Given the description of an element on the screen output the (x, y) to click on. 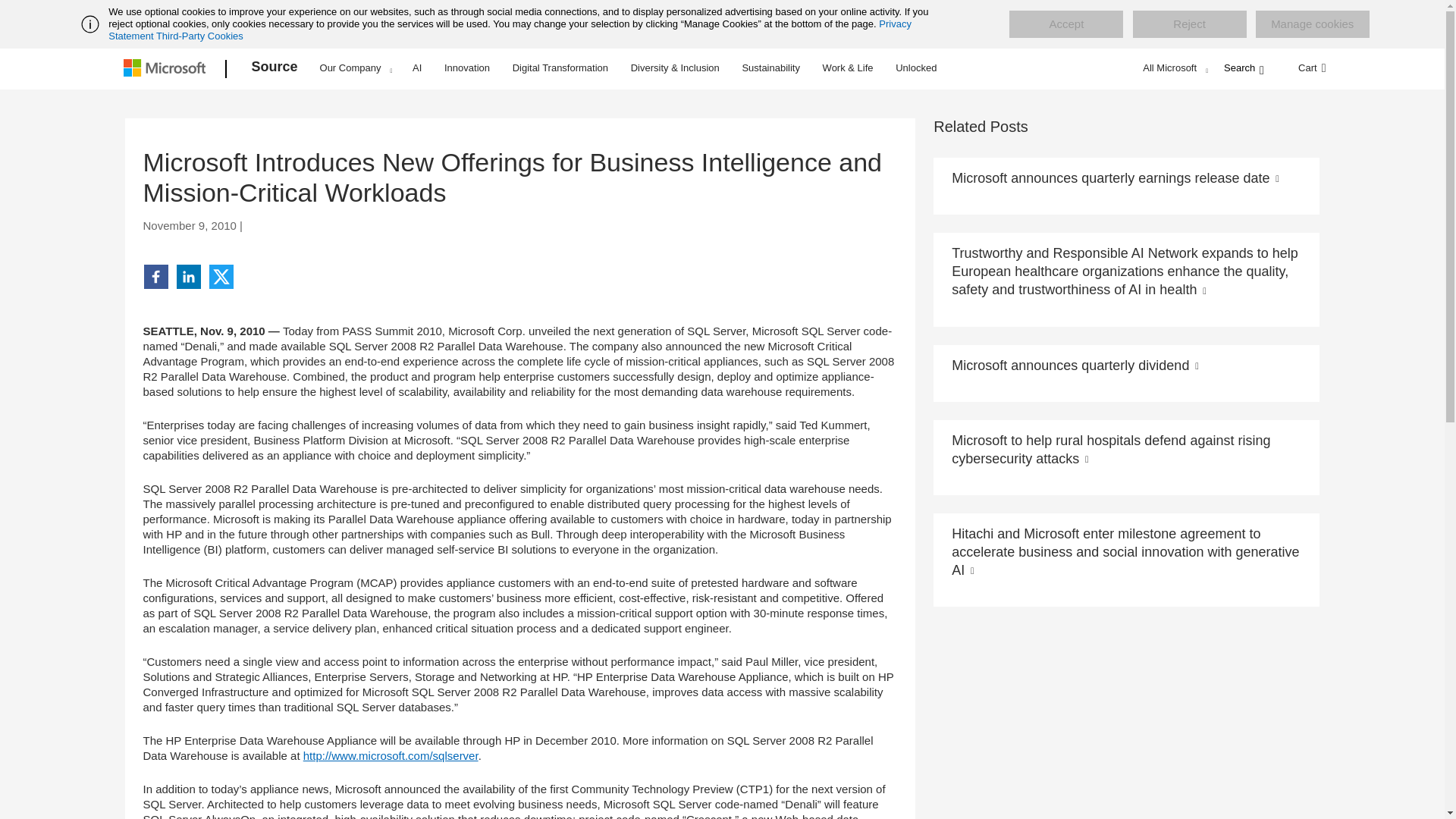
Manage cookies (1312, 23)
Reject (1189, 23)
All Microsoft (1173, 67)
Source (274, 69)
Privacy Statement (509, 29)
Our Company (355, 67)
Unlocked (915, 67)
Digital Transformation (559, 67)
Third-Party Cookies (199, 35)
Innovation (467, 67)
Accept (1065, 23)
Sustainability (770, 67)
Microsoft (167, 69)
